Given the description of an element on the screen output the (x, y) to click on. 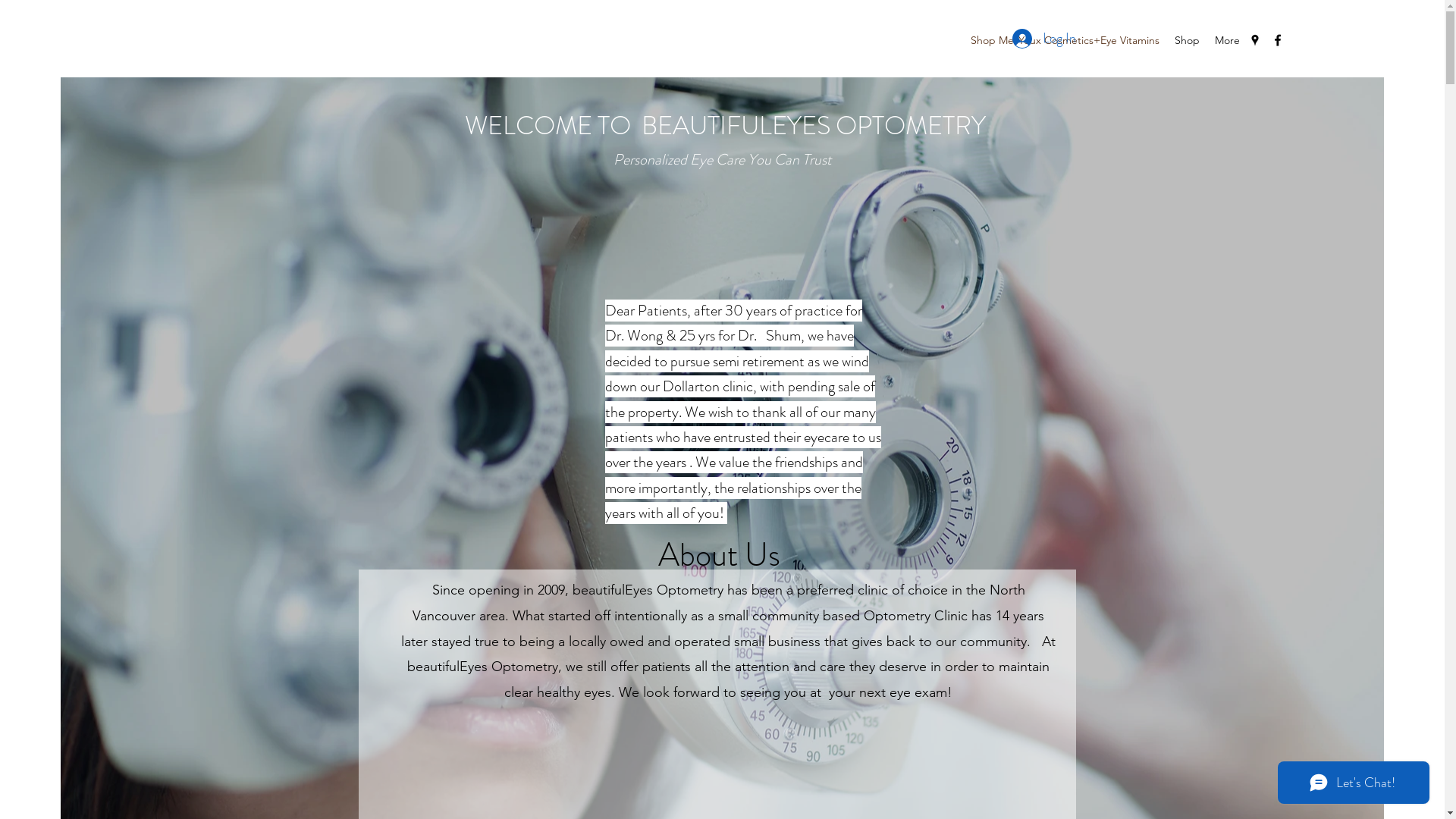
Shop MesYeux Cosmetics+Eye Vitamins Element type: text (1065, 39)
Log In Element type: text (1043, 38)
Shop Element type: text (1187, 39)
